Given the description of an element on the screen output the (x, y) to click on. 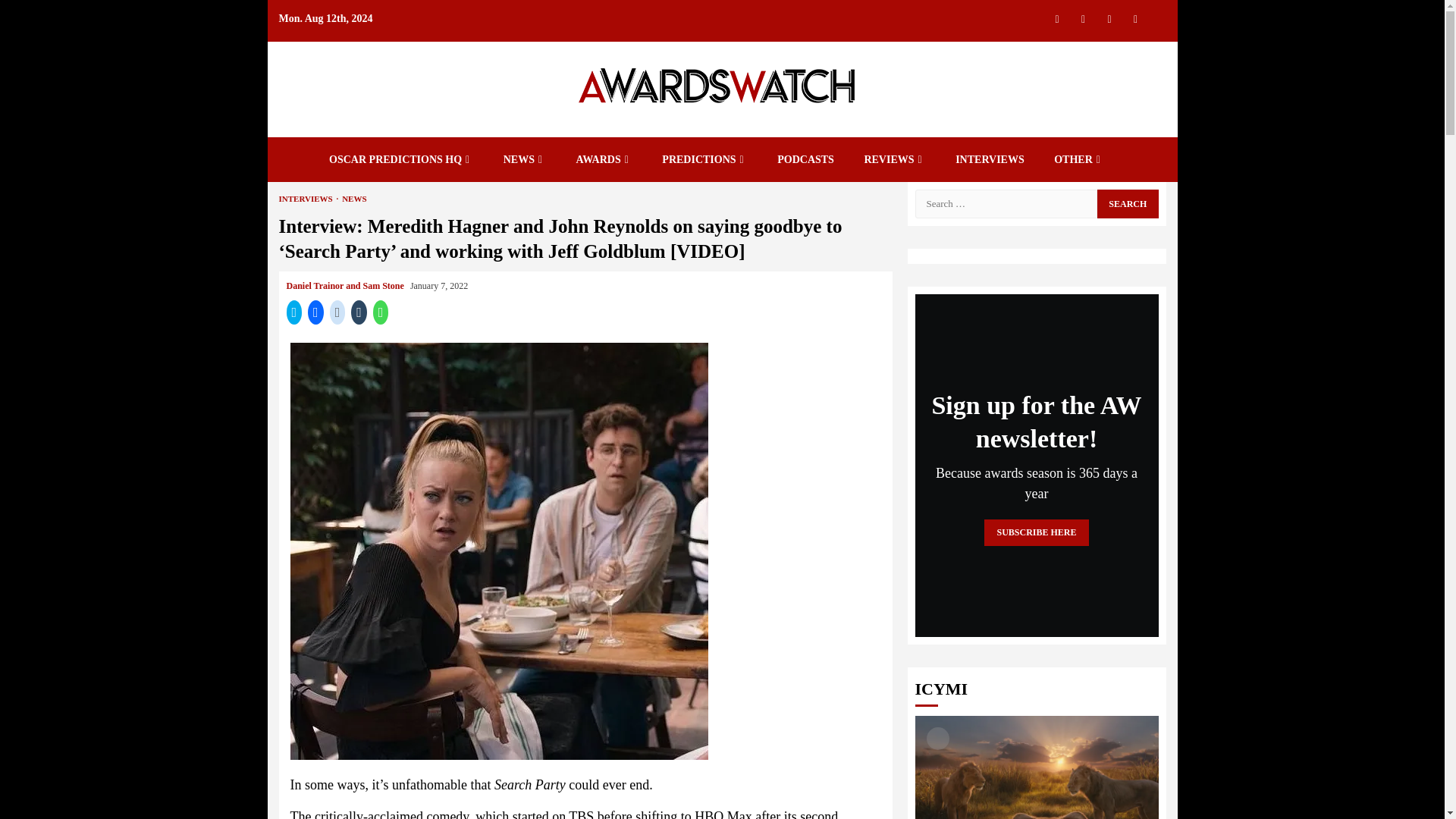
INTERVIEWS (990, 159)
Instagram (1082, 18)
REVIEWS (893, 159)
Search (1127, 203)
OSCAR PREDICTIONS HQ (401, 159)
OTHER (1078, 159)
Search (1126, 44)
NEWS (524, 159)
PREDICTIONS (704, 159)
Search (1127, 203)
